Given the description of an element on the screen output the (x, y) to click on. 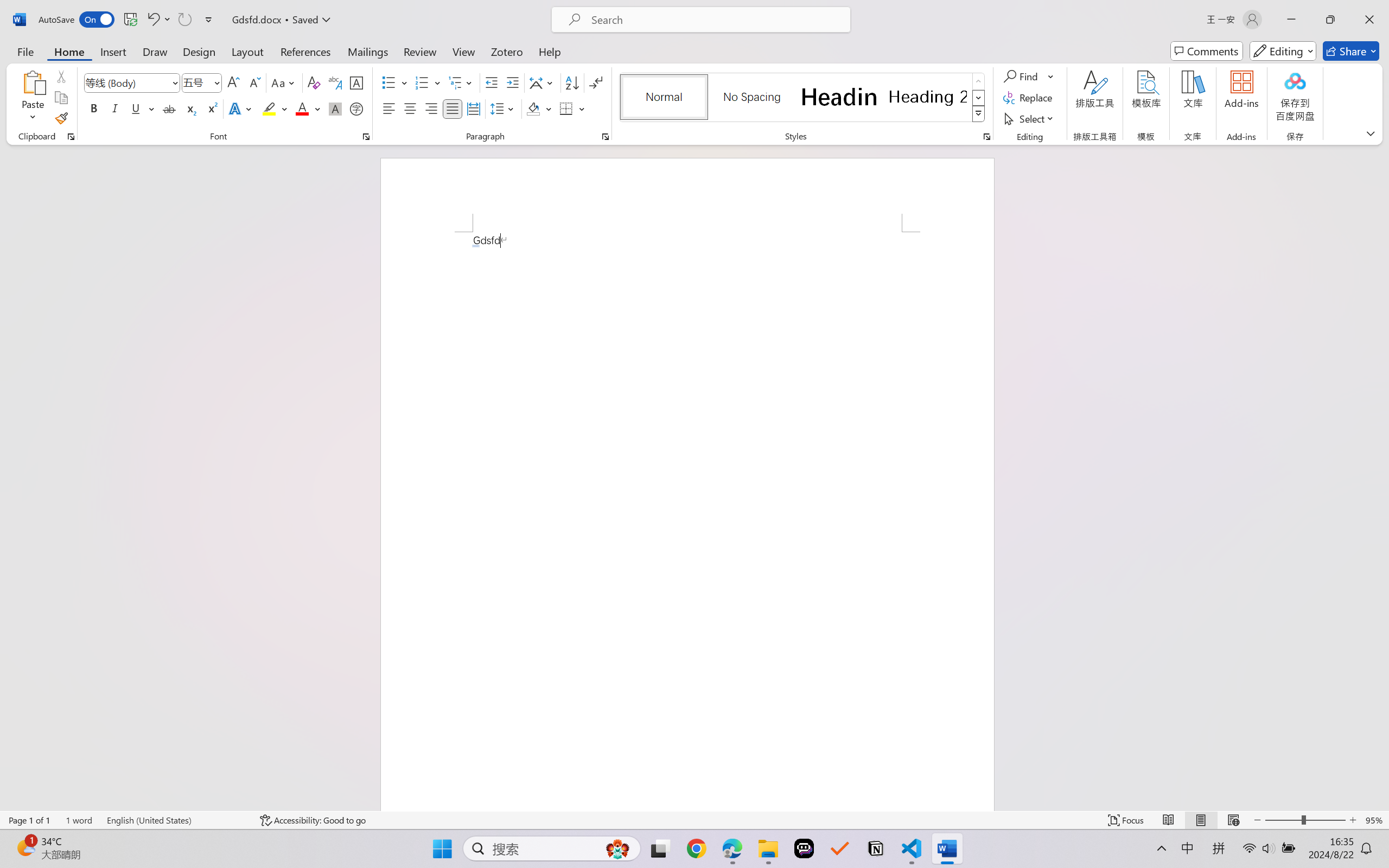
Action: Undo Auto Actions (475, 245)
Change Case (284, 82)
Page 1 content (687, 521)
Cut (60, 75)
Align Right (431, 108)
Heading 1 (839, 96)
